Given the description of an element on the screen output the (x, y) to click on. 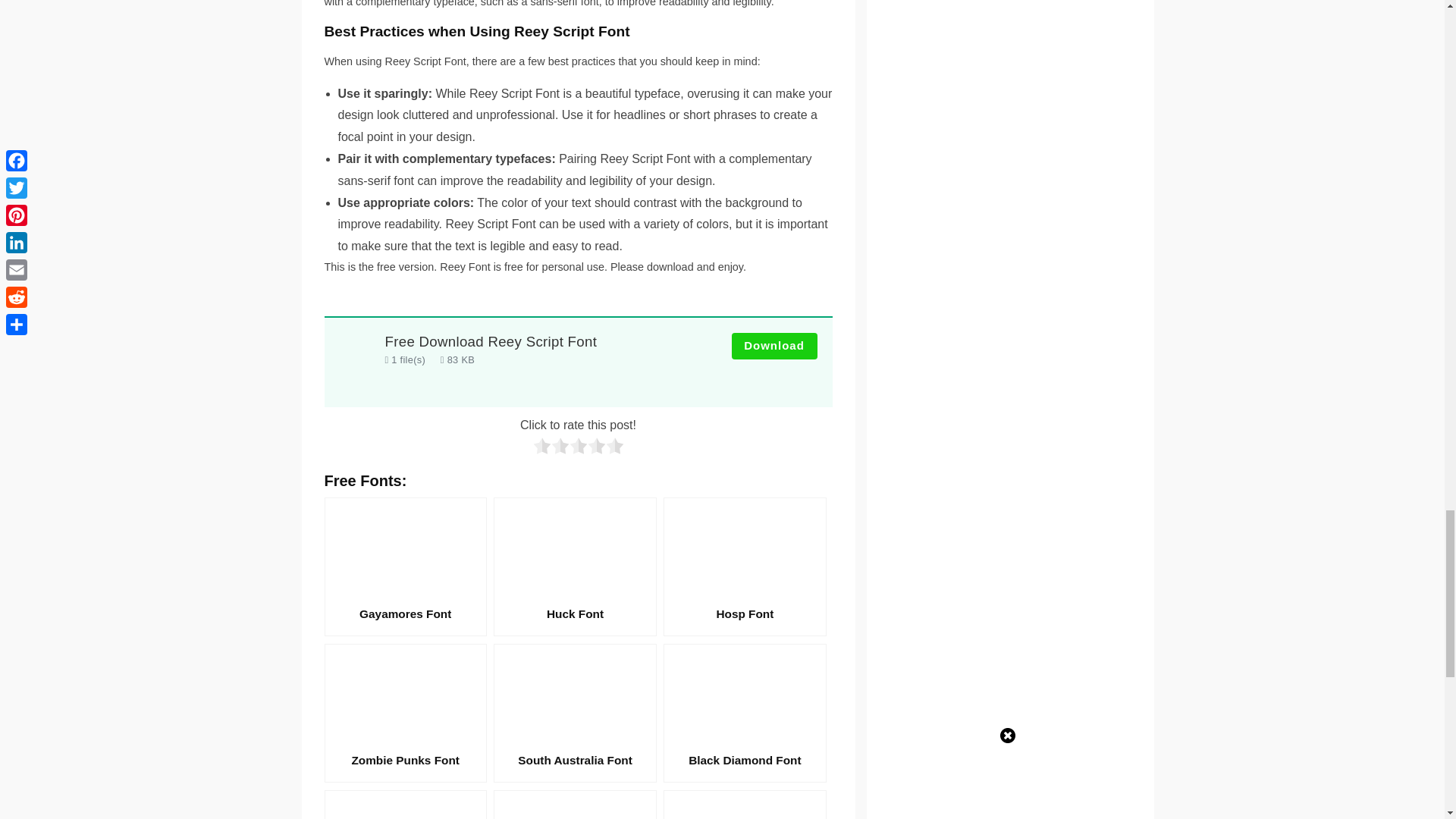
Huck Font (574, 566)
Black Diamond Font (744, 712)
Lemonade Font (574, 804)
Hosp Font (744, 566)
Huck Font (574, 566)
Zombie Punks Font (405, 712)
Lemonade Font (574, 804)
Black Diamond Font (744, 712)
South Australia Font (574, 712)
Hosp Font (744, 566)
Yellowtail Font (405, 804)
Yellowtail Font (405, 804)
Quentin Font (744, 804)
Zombie Punks Font (405, 712)
Gayamores Font (405, 566)
